Given the description of an element on the screen output the (x, y) to click on. 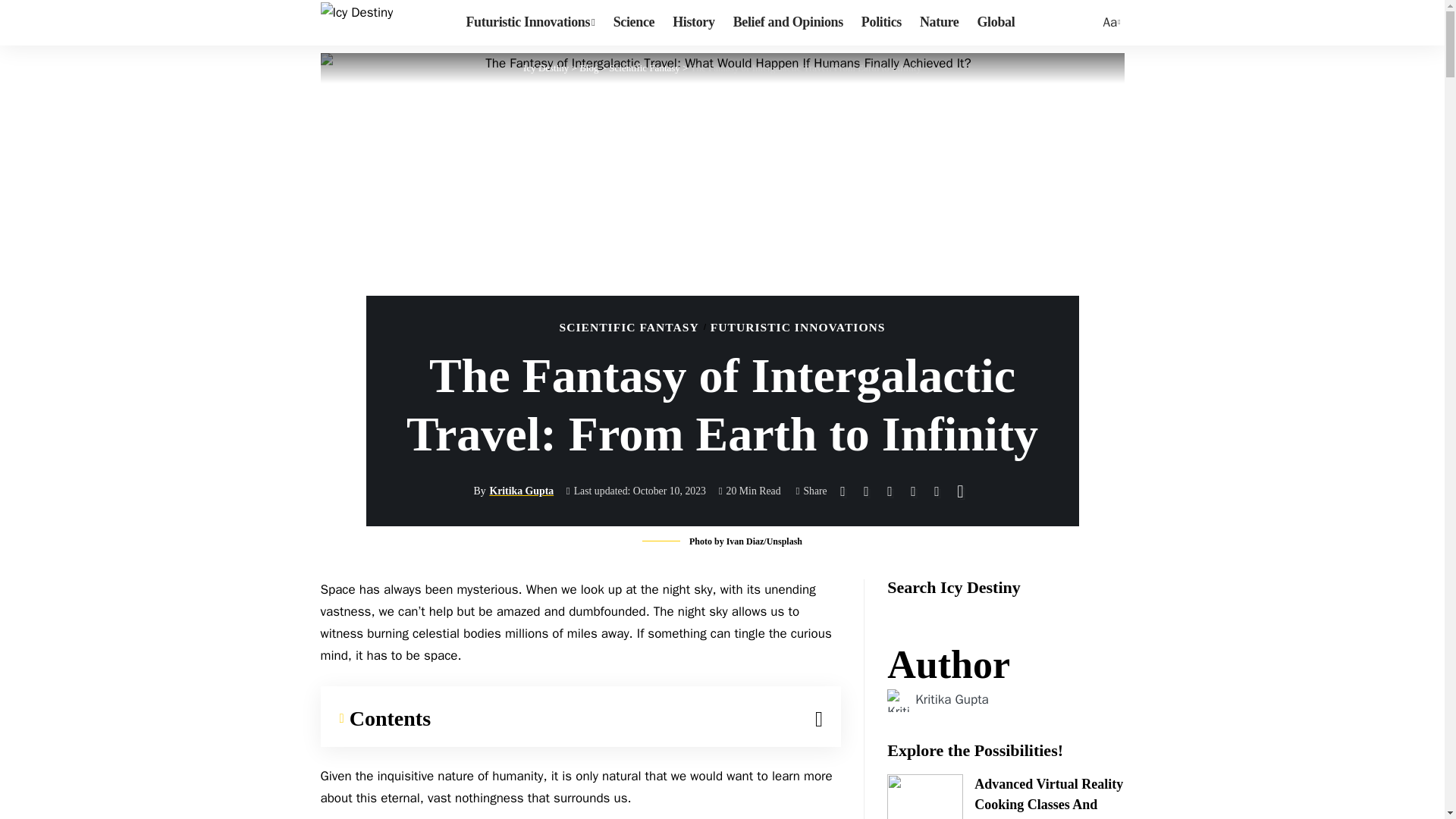
Advanced Virtual Reality Cooking Classes And Simulations (924, 796)
Icy Destiny (356, 23)
Icy Destiny (545, 67)
Kritika Gupta (951, 699)
Futuristic Innovations (530, 22)
Science (633, 22)
Global (1110, 23)
Go to Icy Destiny. (995, 22)
Nature (545, 67)
